Given the description of an element on the screen output the (x, y) to click on. 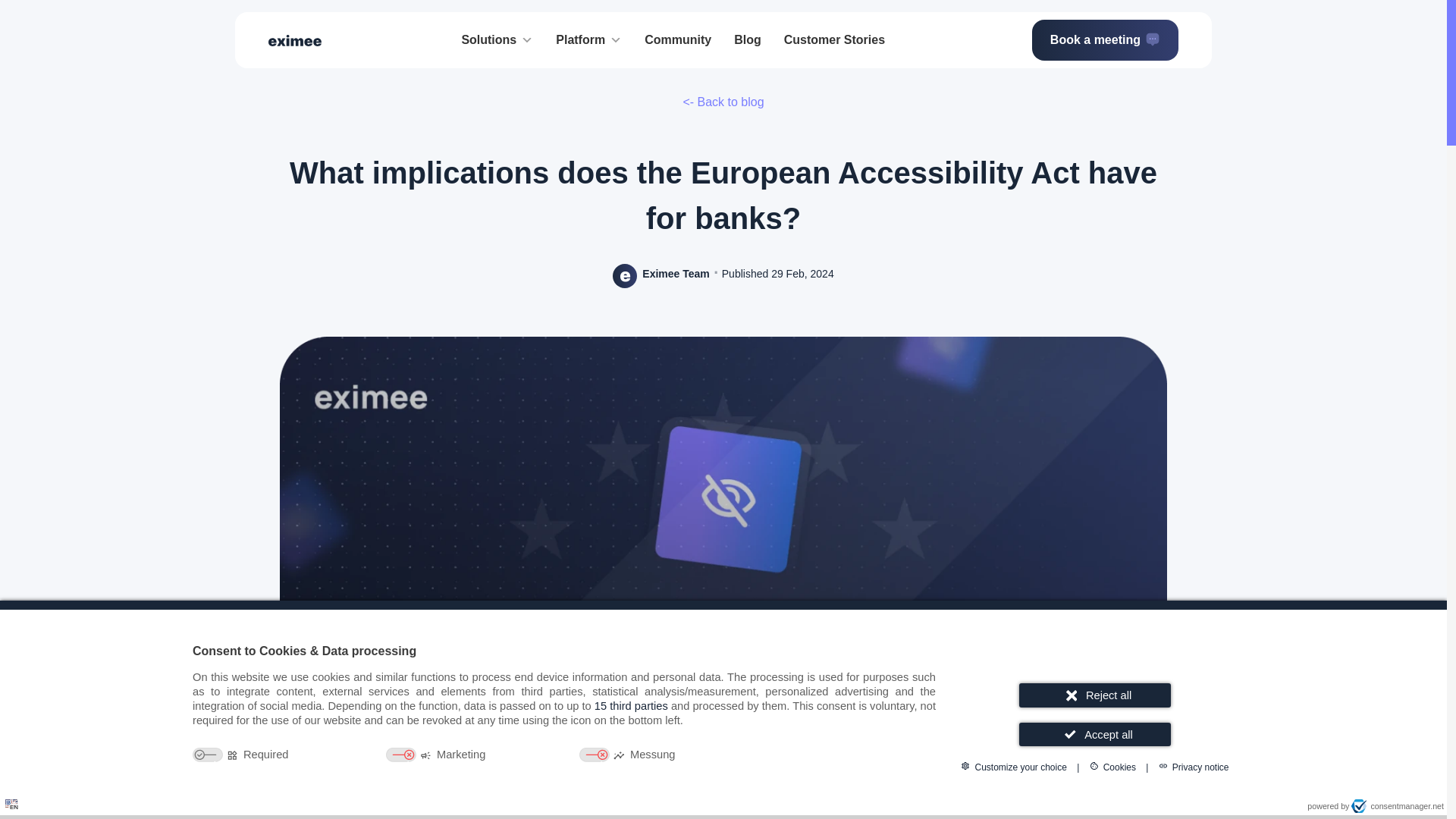
consentmanager.net (1397, 806)
Cookies (1111, 766)
Reject all (1094, 694)
Language: en (11, 803)
Privacy notice (1193, 766)
Purpose (564, 755)
15 third parties (631, 705)
Accept all (1094, 734)
Privacy settings (17, 801)
Customize your choice (1013, 766)
